Given the description of an element on the screen output the (x, y) to click on. 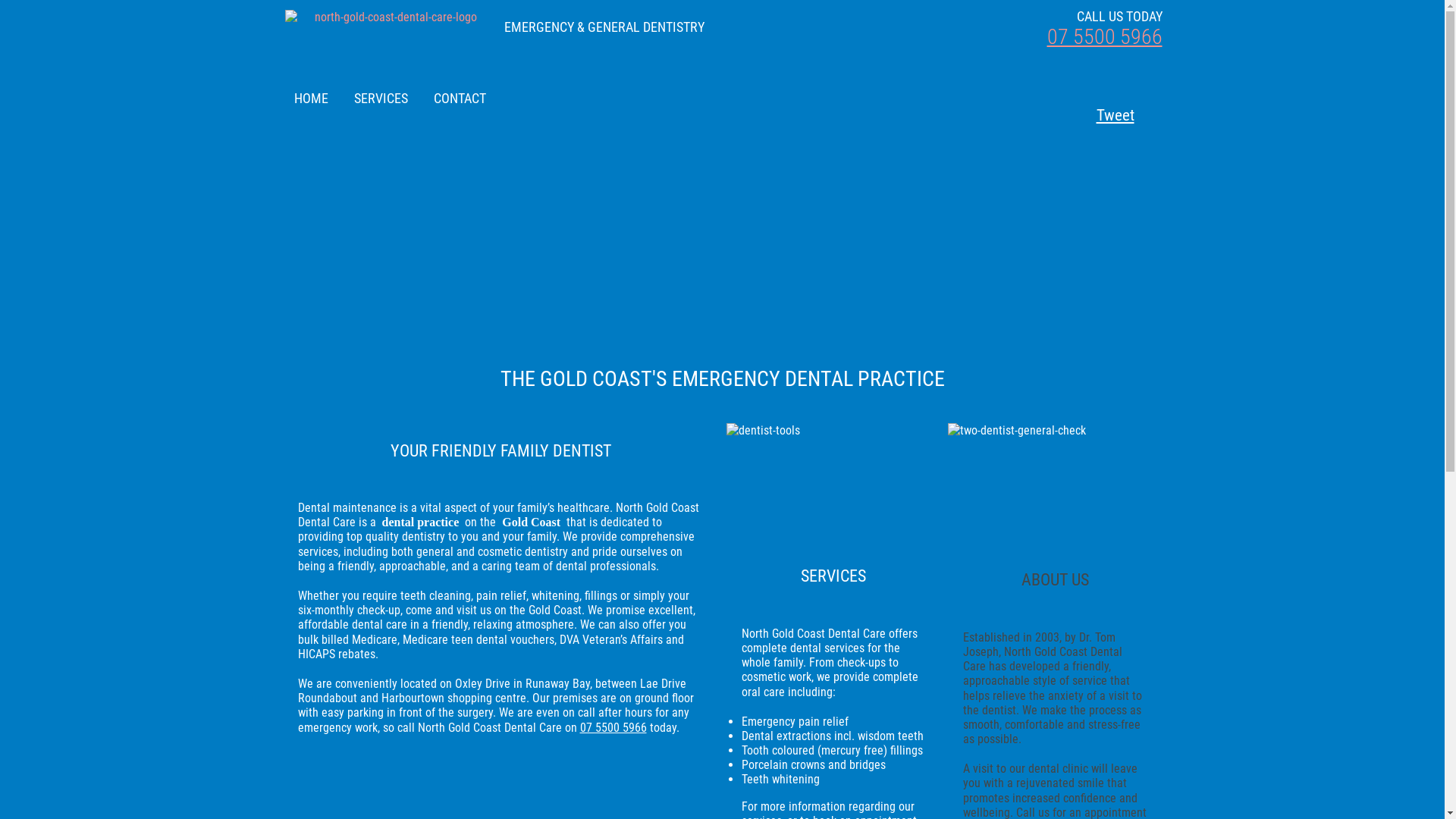
HOME Element type: text (311, 98)
07 5500 5966 Element type: text (612, 727)
north-gold-coast-dental-care-logo Element type: hover (389, 16)
two-dentist-general-check Element type: hover (1054, 486)
07 5500 5966 Element type: text (1103, 36)
dentist-tools Element type: hover (833, 486)
SERVICES Element type: text (380, 98)
Tweet Element type: text (1103, 114)
CONTACT Element type: text (459, 98)
